Given the description of an element on the screen output the (x, y) to click on. 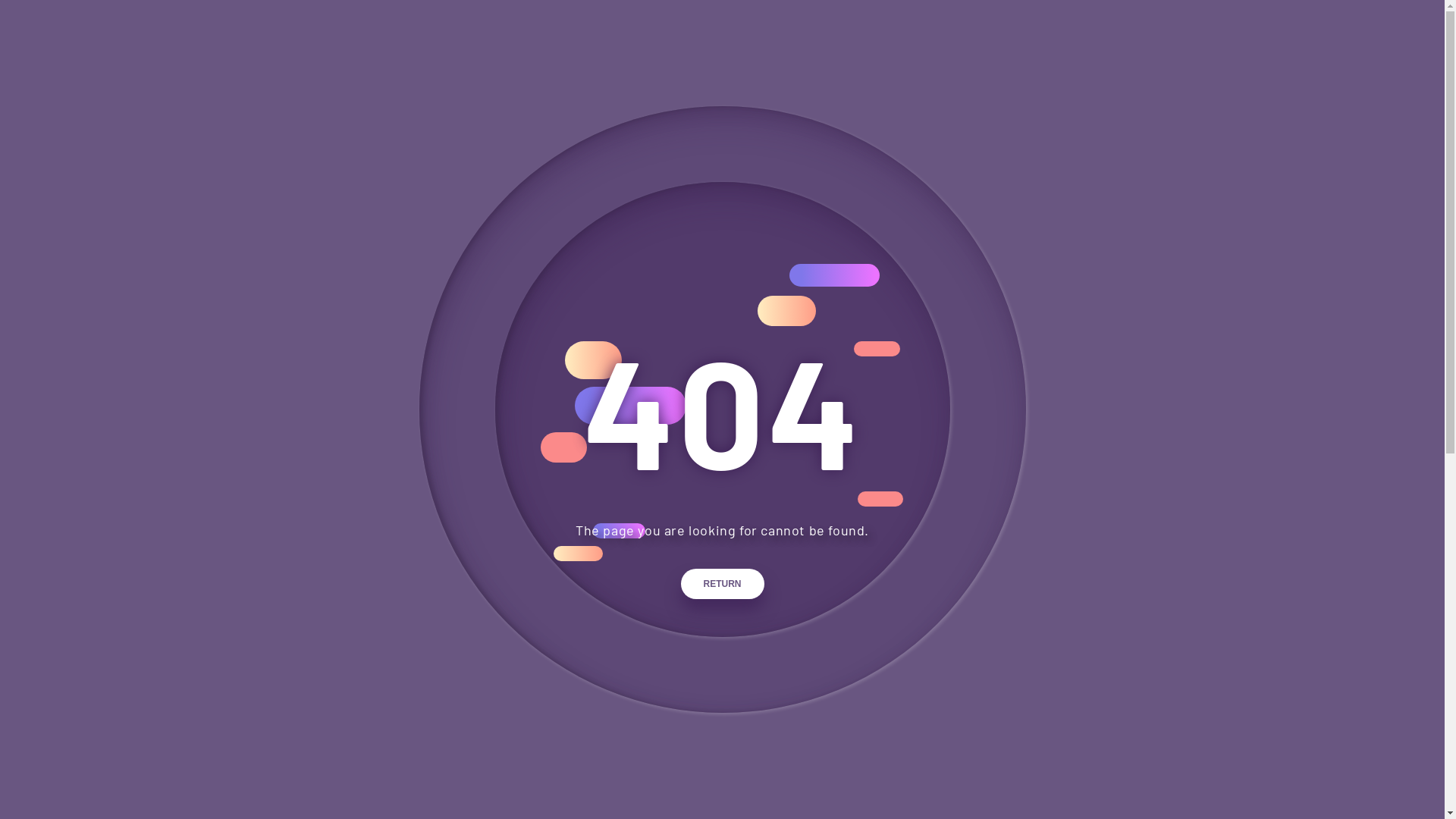
RETURN Element type: text (722, 583)
